Given the description of an element on the screen output the (x, y) to click on. 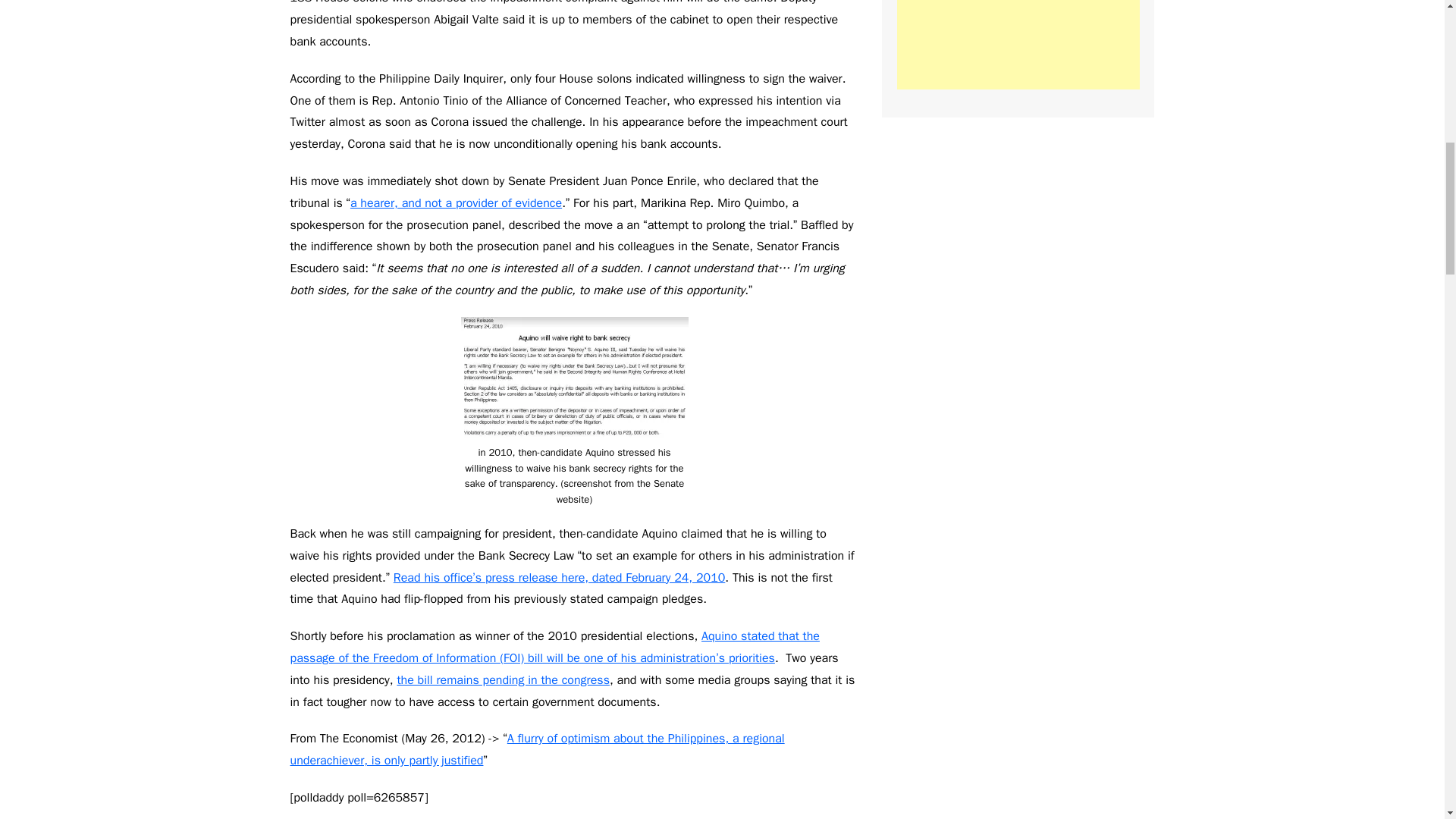
Advertisement (1017, 44)
a hearer, and not a provider of evidence (456, 202)
noynoy aquino on waiving his bank secrecy rights (574, 380)
the bill remains pending in the congress (503, 679)
